Given the description of an element on the screen output the (x, y) to click on. 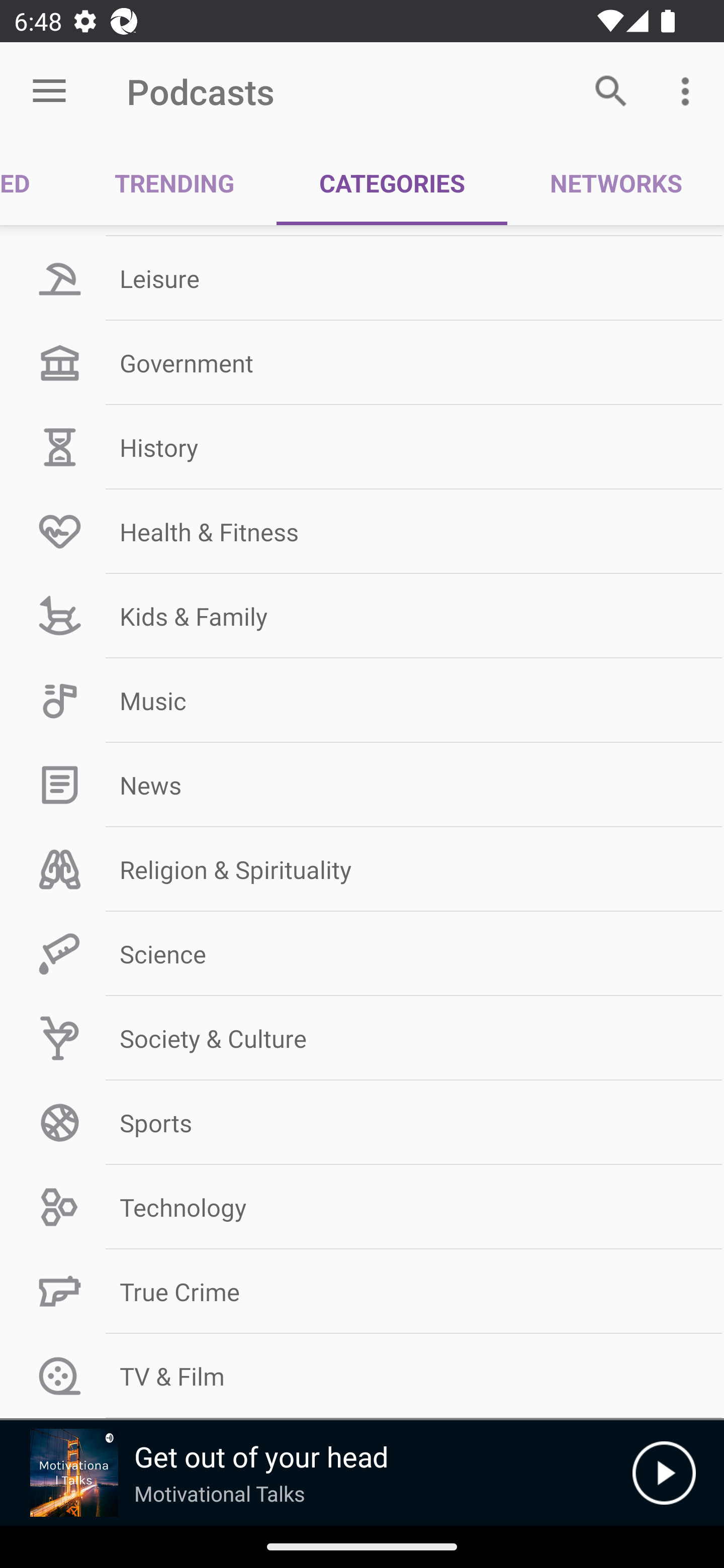
Open menu (49, 91)
Search (611, 90)
More options (688, 90)
TRENDING (174, 183)
CATEGORIES (391, 183)
NETWORKS (615, 183)
Leisure (362, 277)
Government (362, 361)
History (362, 446)
Health & Fitness (362, 531)
Kids & Family (362, 615)
Music (362, 700)
News (362, 785)
Religion & Spirituality (362, 869)
Science (362, 953)
Society & Culture (362, 1037)
Sports (362, 1122)
Technology (362, 1207)
True Crime (362, 1291)
TV & Film (362, 1375)
Picture Get out of your head Motivational Talks (316, 1472)
Play (663, 1472)
